Given the description of an element on the screen output the (x, y) to click on. 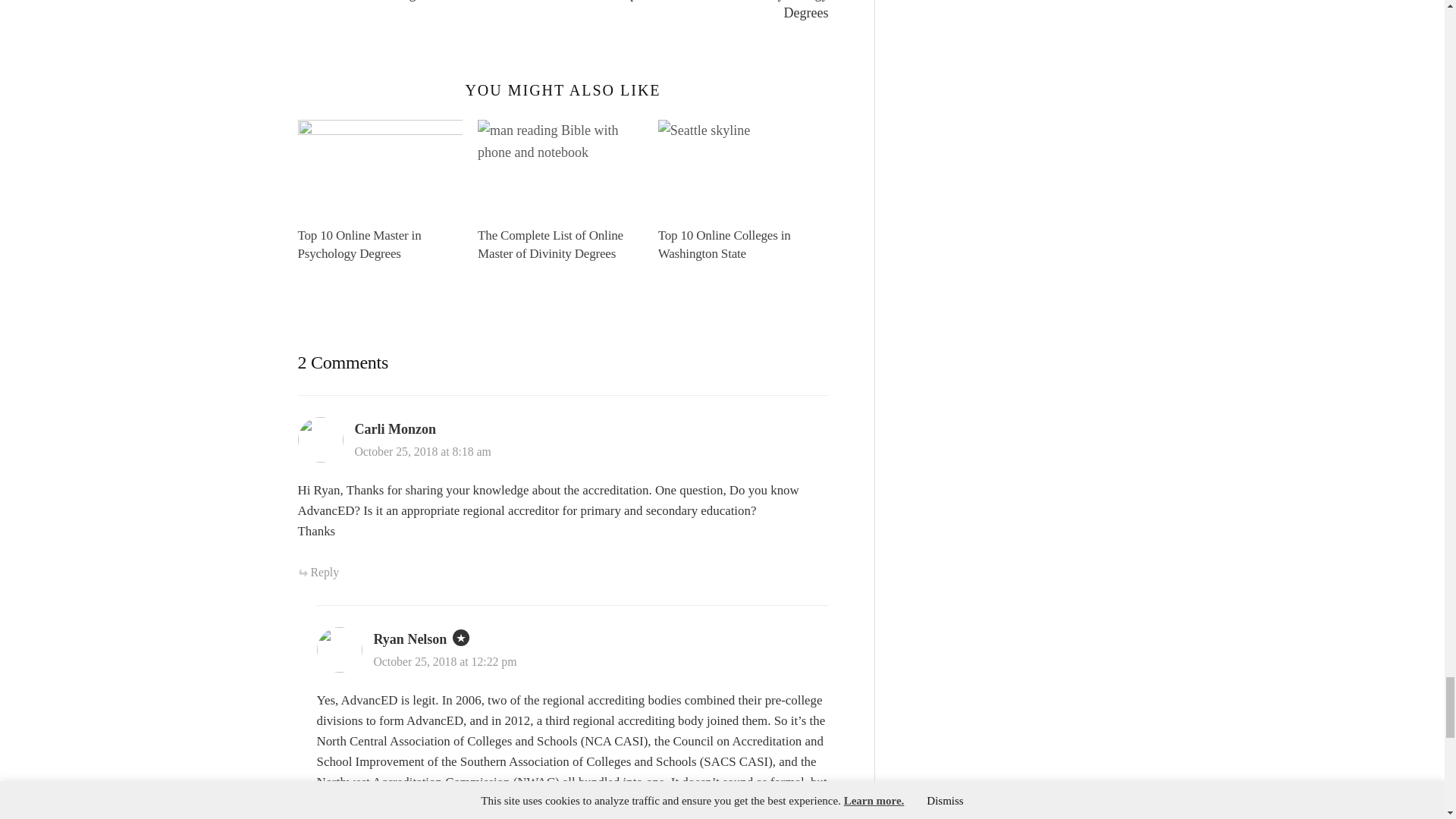
Top 10 Online Master in Psychology Degrees (358, 244)
The Complete List of Online Master of Divinity Degrees (560, 166)
Top 10 Online Master in Psychology Degrees (380, 166)
The Complete List of Online Master of Divinity Degrees (550, 244)
Top 10 Online Colleges in Washington State (741, 166)
Top 10 Online Colleges in Washington State (724, 244)
